Given the description of an element on the screen output the (x, y) to click on. 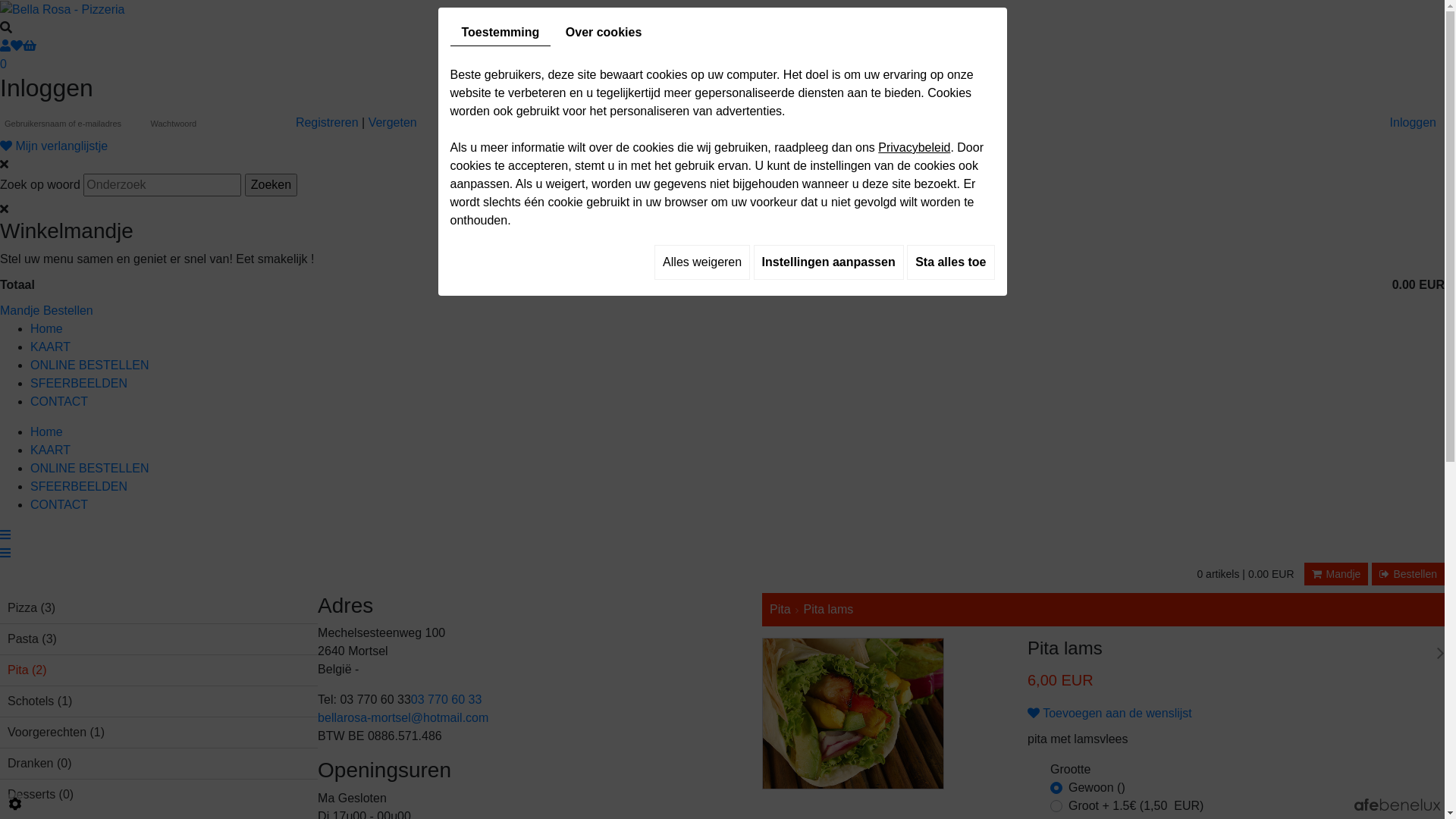
03 770 60 33 Element type: text (446, 699)
Toevoegen aan de wenslijst Element type: text (1109, 712)
Alles weigeren Element type: text (701, 261)
Cookie-instelling bewerken Element type: text (14, 803)
KAART Element type: text (50, 346)
Sta alles toe Element type: text (950, 261)
ONLINE BESTELLEN Element type: text (89, 467)
Wachtwoord Element type: hover (216, 123)
Home Element type: text (46, 328)
Desserts (0) Element type: text (158, 794)
Bestellen Element type: text (1407, 573)
Inloggen Element type: text (1412, 122)
Registreren Element type: text (326, 122)
Instellingen aanpassen Element type: text (828, 261)
0 Element type: text (722, 56)
Toestemming Element type: text (500, 32)
CONTACT Element type: text (58, 401)
Bella Rosa - Pizzeria Element type: hover (62, 8)
Bestellen Element type: text (68, 310)
Pasta (3) Element type: text (158, 639)
Pita Element type: text (779, 608)
Mandje Element type: text (19, 310)
Pita (2) Element type: text (158, 670)
Home Element type: text (46, 431)
Volgend Element type: text (1440, 652)
Schotels (1) Element type: text (158, 701)
SFEERBEELDEN Element type: text (78, 382)
ONLINE BESTELLEN Element type: text (89, 364)
Mandje Element type: text (1336, 573)
Privacybeleid Element type: text (914, 147)
Dranken (0) Element type: text (158, 763)
Over cookies Element type: text (603, 32)
Gebruikersnaam of e-mailadres Element type: hover (71, 123)
CONTACT Element type: text (58, 504)
Zoeken Element type: text (270, 184)
Voorgerechten (1) Element type: text (158, 732)
Vergeten Element type: text (392, 122)
KAART Element type: text (50, 449)
SFEERBEELDEN Element type: text (78, 486)
bellarosa-mortsel@hotmail.com Element type: text (402, 717)
Mijn verlanglijstje Element type: text (53, 145)
Pizza (3) Element type: text (158, 608)
